Given the description of an element on the screen output the (x, y) to click on. 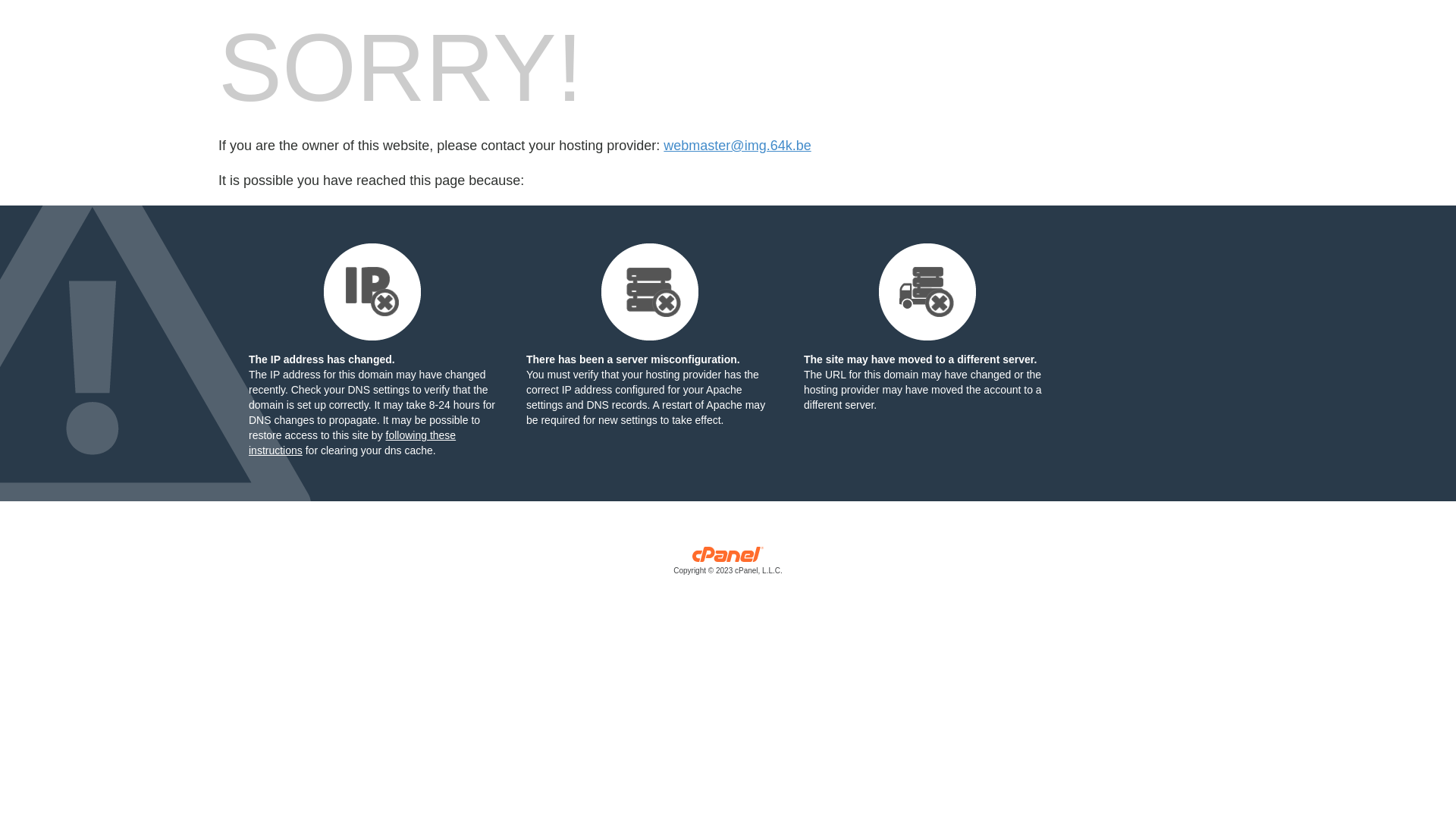
following these instructions Element type: text (351, 442)
webmaster@img.64k.be Element type: text (736, 145)
